Given the description of an element on the screen output the (x, y) to click on. 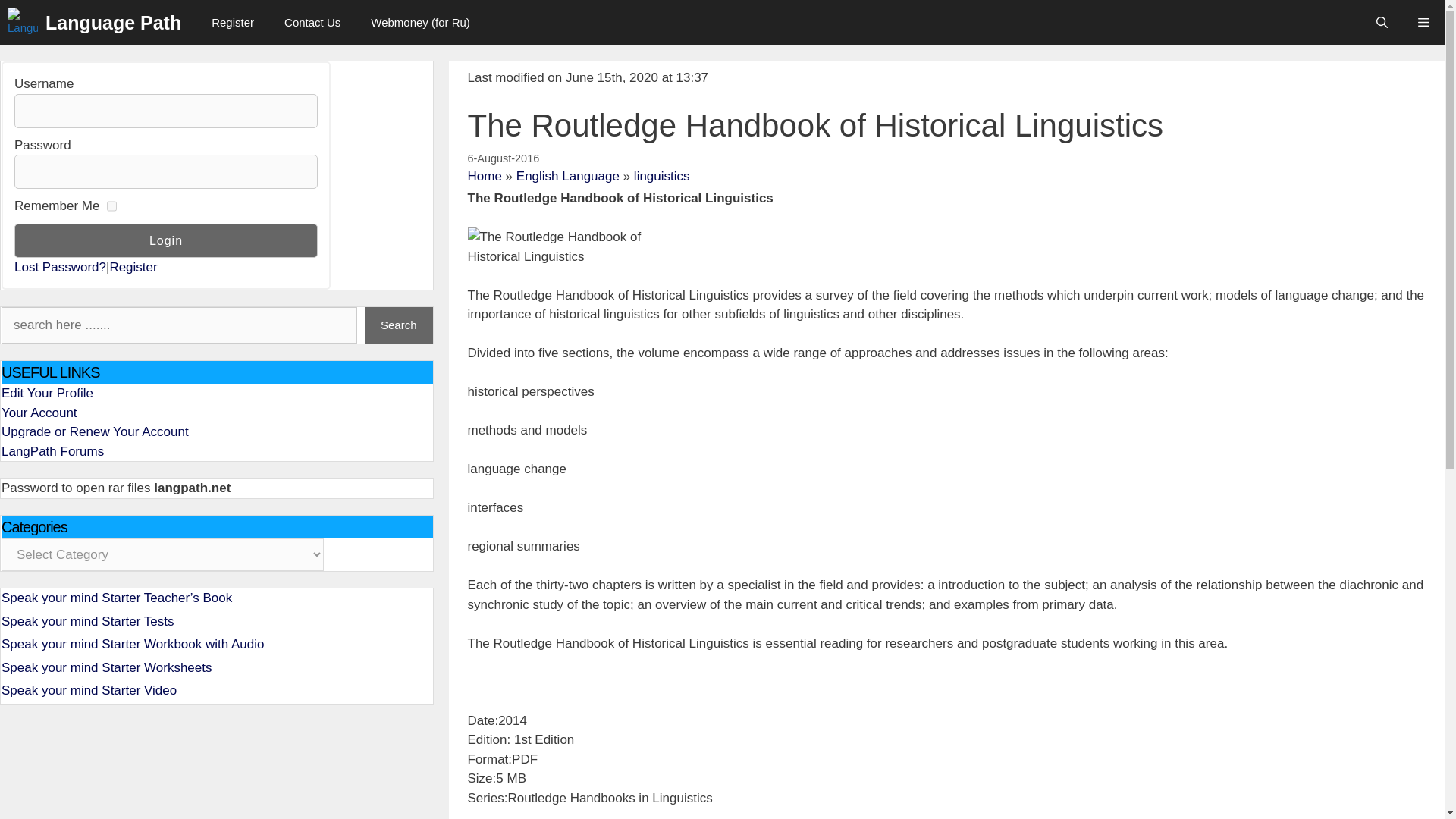
Speak your mind Starter Tests (87, 621)
Home (483, 175)
Register (133, 267)
Please enter password (165, 171)
Speak your mind Starter Video (88, 690)
Login (165, 239)
linguistics (661, 175)
linguistics (661, 175)
Speak your mind Starter Worksheets (106, 667)
The Routledge Handbook of Historical Linguistics (580, 246)
Speak your mind Starter Workbook with Audio (132, 644)
Lost Password? (60, 267)
Register (232, 22)
Home (483, 175)
Contact Us (312, 22)
